Given the description of an element on the screen output the (x, y) to click on. 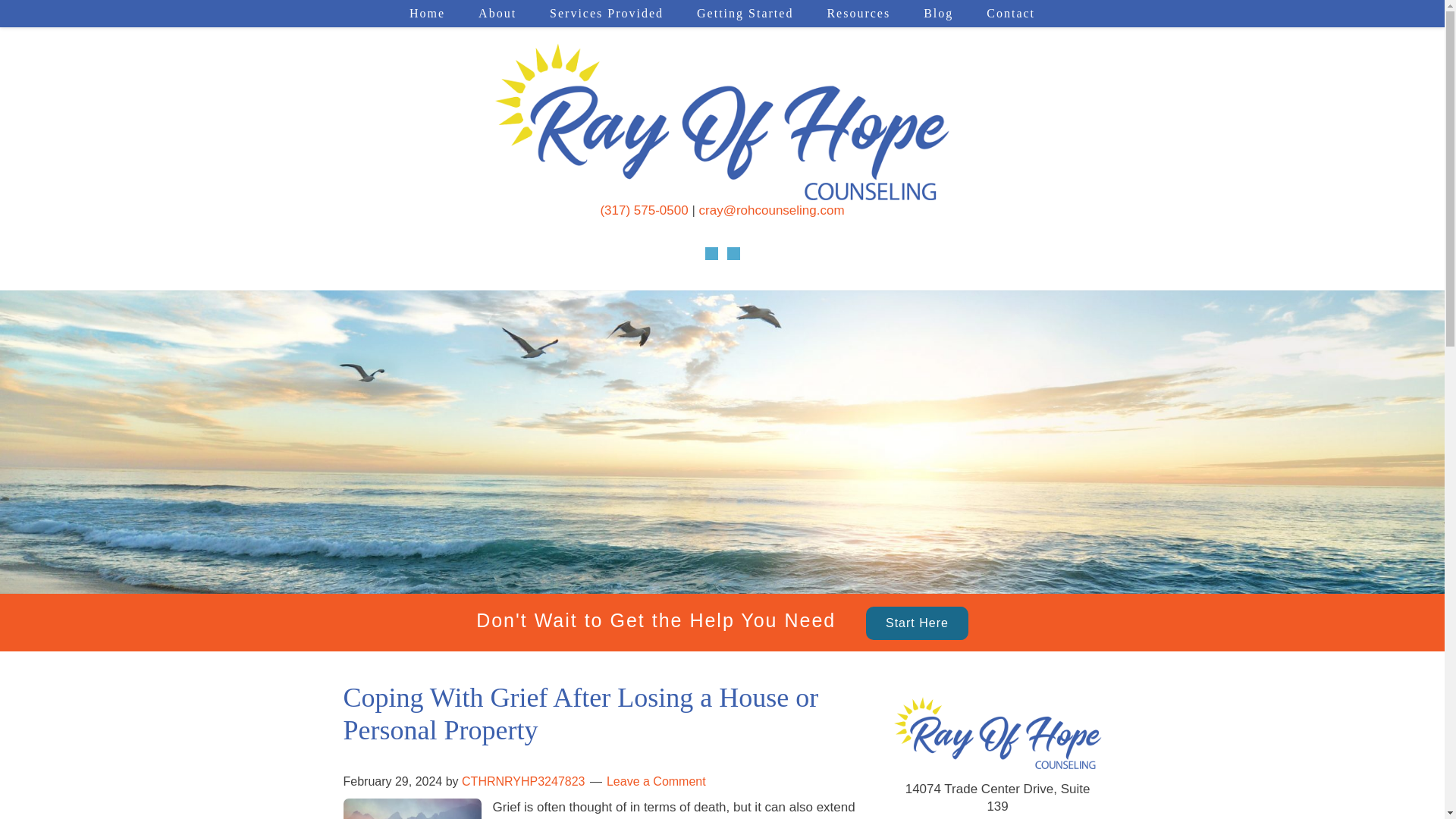
Services Provided (605, 13)
About (496, 13)
Home (427, 13)
Getting Started (744, 13)
Blog (938, 13)
Start Here (917, 622)
Leave a Comment (656, 780)
Resources (858, 13)
Contact (1010, 13)
CTHRNRYHP3247823 (523, 780)
